Given the description of an element on the screen output the (x, y) to click on. 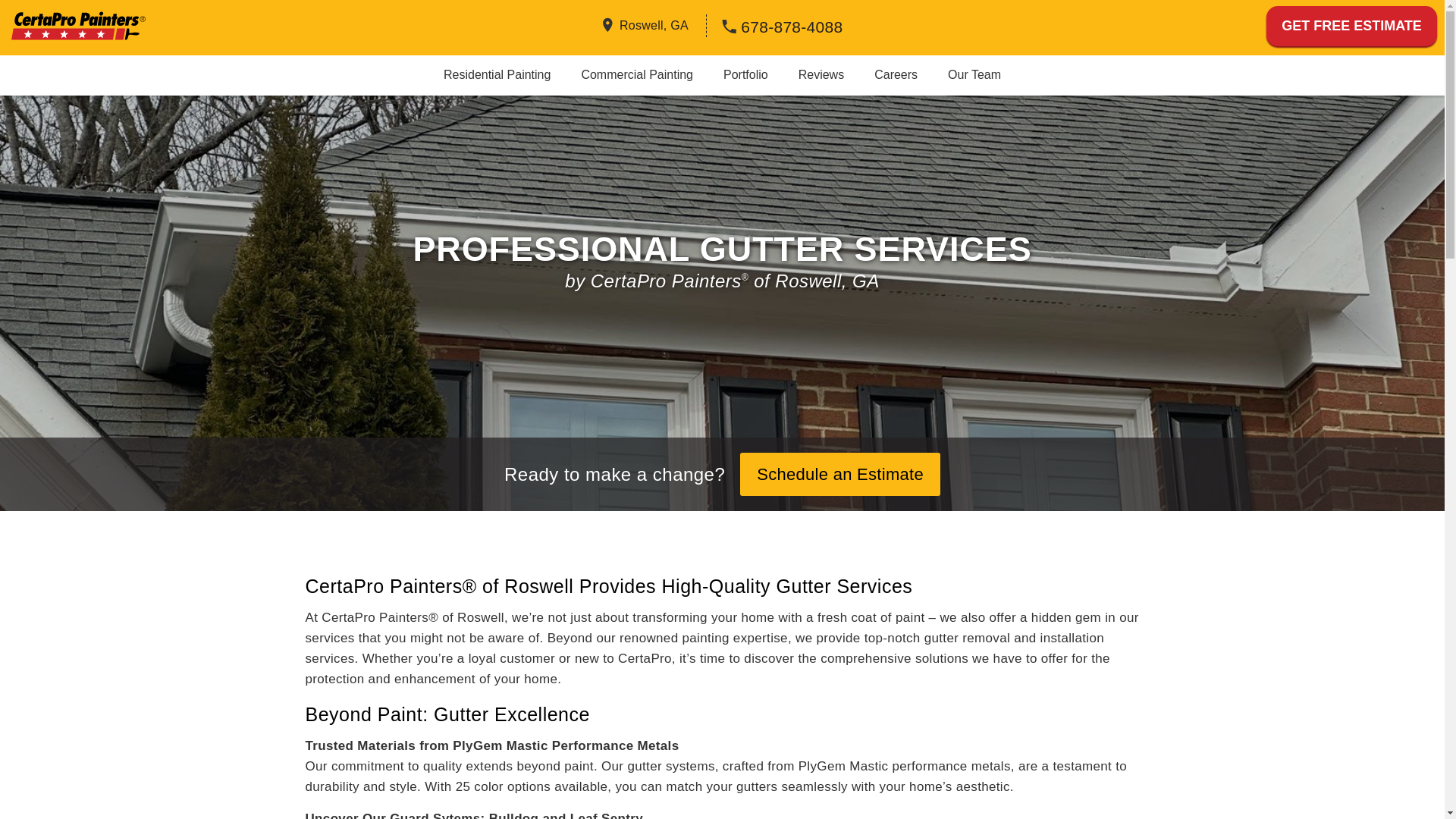
Roswell, GA (654, 24)
Commercial Painting (636, 74)
Portfolio (745, 74)
Residential Painting (497, 74)
GET FREE ESTIMATE (1351, 25)
